Given the description of an element on the screen output the (x, y) to click on. 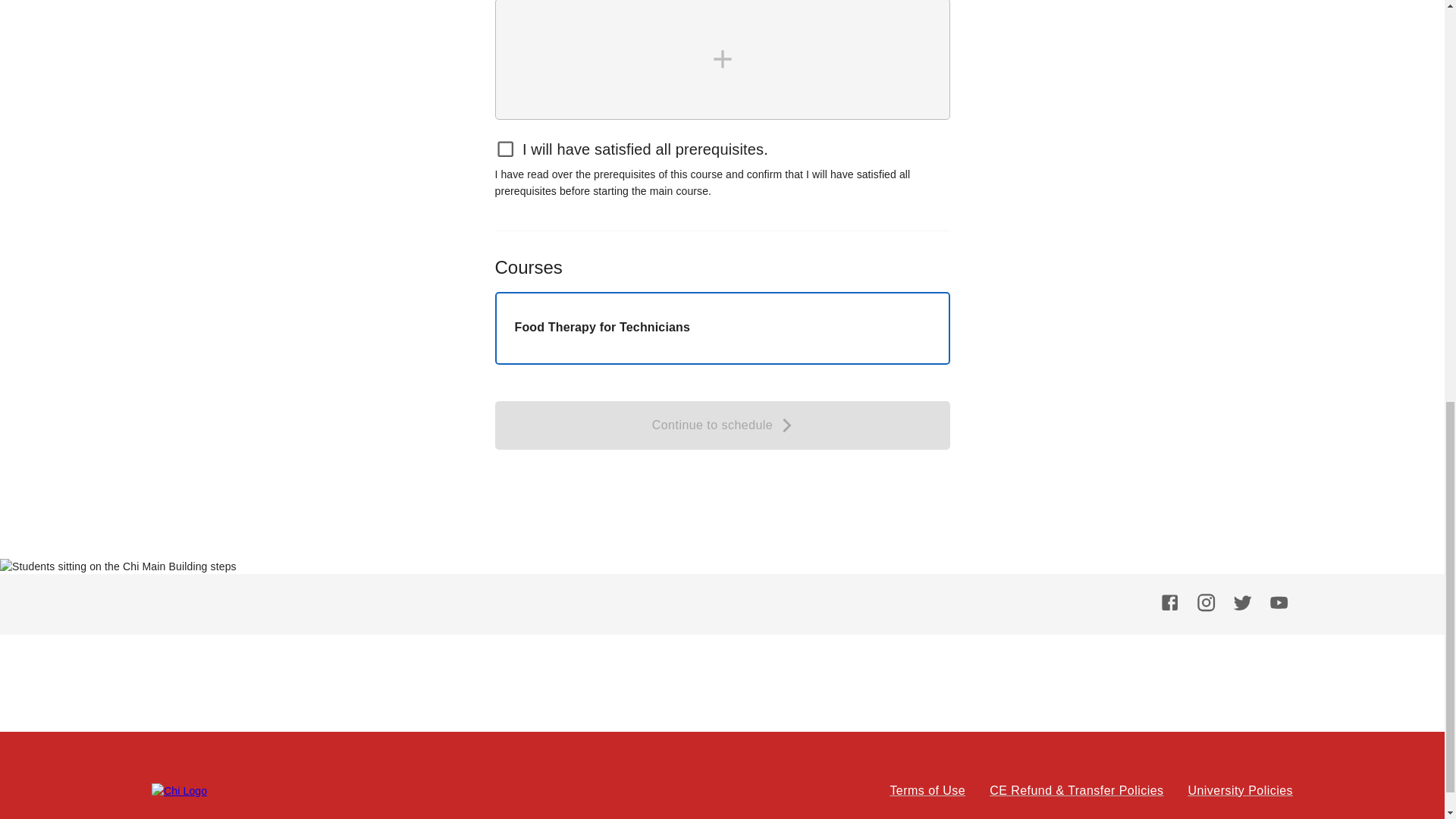
University Policies (1240, 790)
Food Therapy for Technicians (722, 327)
Continue to schedule (722, 425)
Terms of Use (927, 790)
